Given the description of an element on the screen output the (x, y) to click on. 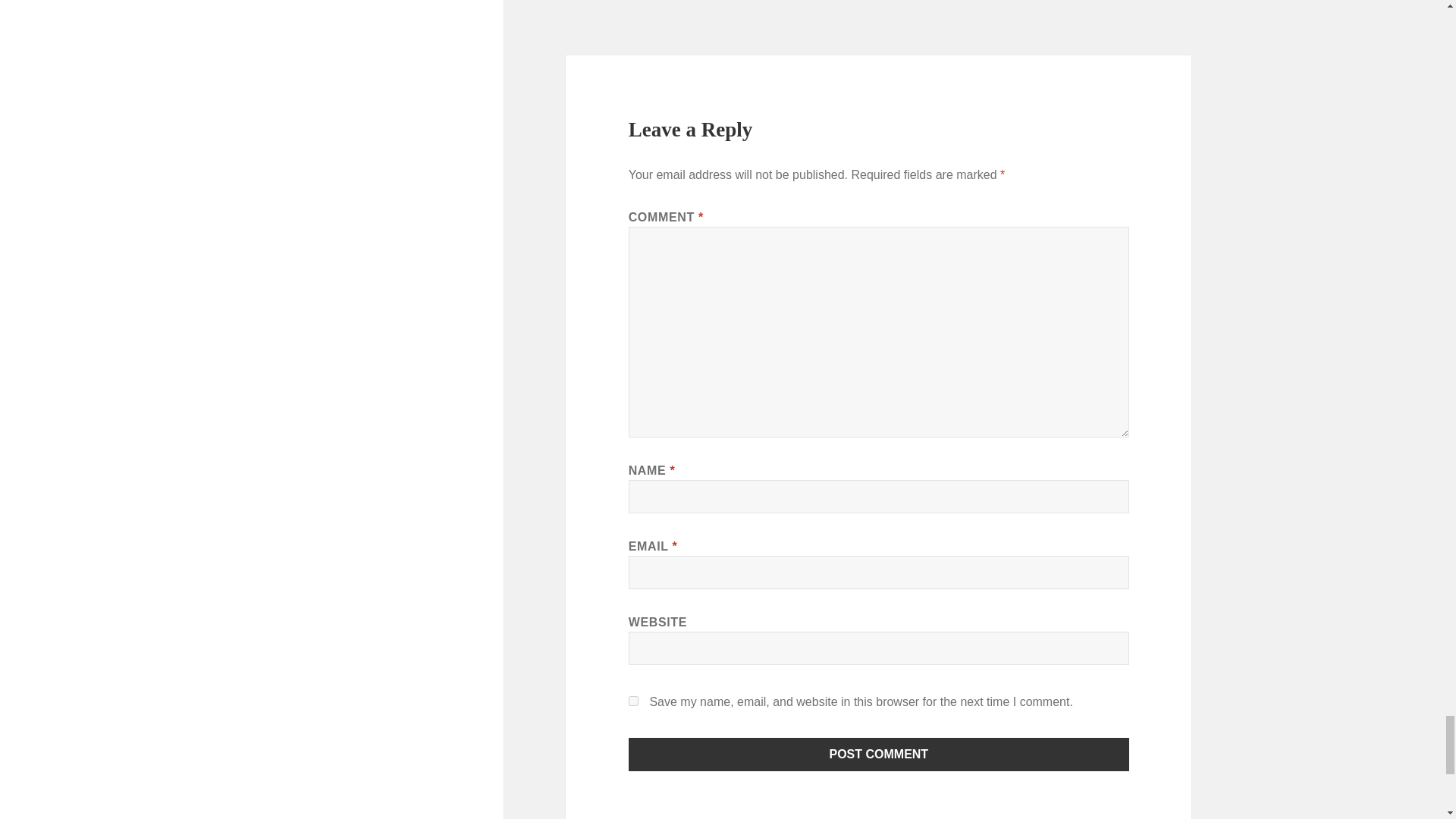
Post Comment (878, 754)
yes (633, 700)
Post Comment (878, 754)
